Given the description of an element on the screen output the (x, y) to click on. 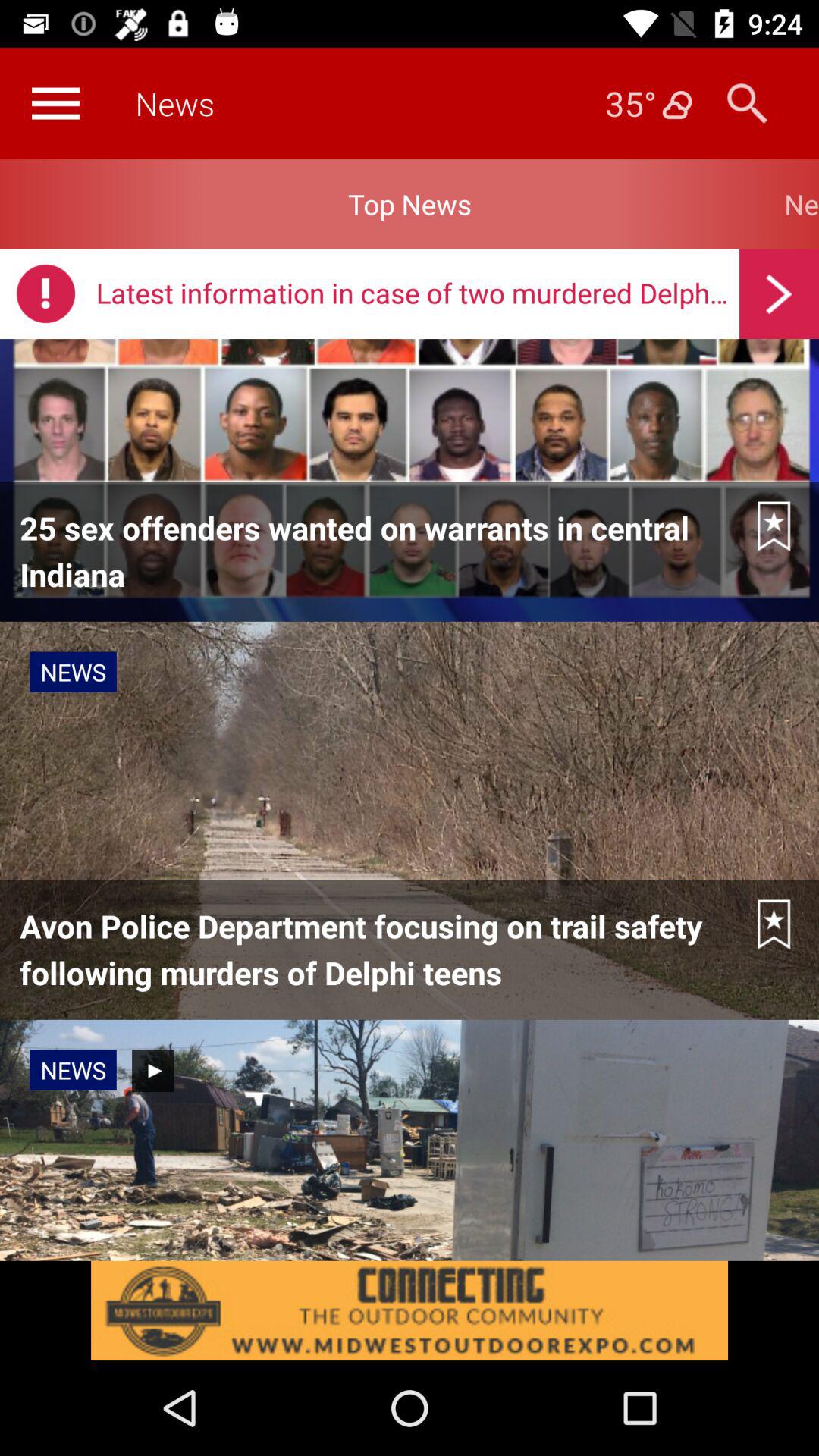
search button (747, 103)
